Given the description of an element on the screen output the (x, y) to click on. 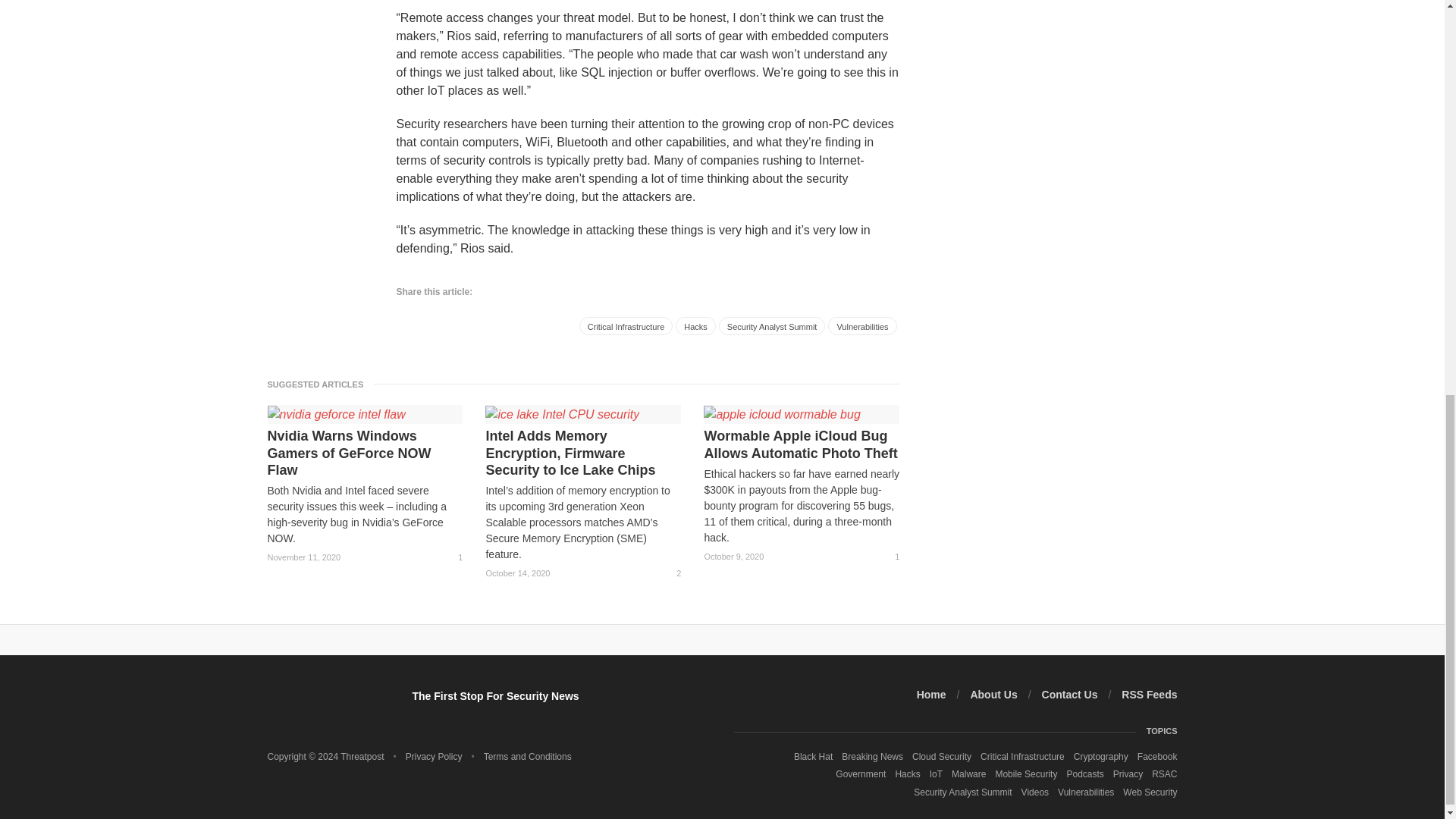
Hacks (695, 325)
2 (671, 573)
1 (889, 556)
1 (453, 557)
Wormable Apple iCloud Bug Allows Automatic Photo Theft (801, 444)
Vulnerabilities (862, 325)
Critical Infrastructure (625, 325)
Security Analyst Summit (772, 325)
Nvidia Warns Windows Gamers of GeForce NOW Flaw (364, 453)
